Given the description of an element on the screen output the (x, y) to click on. 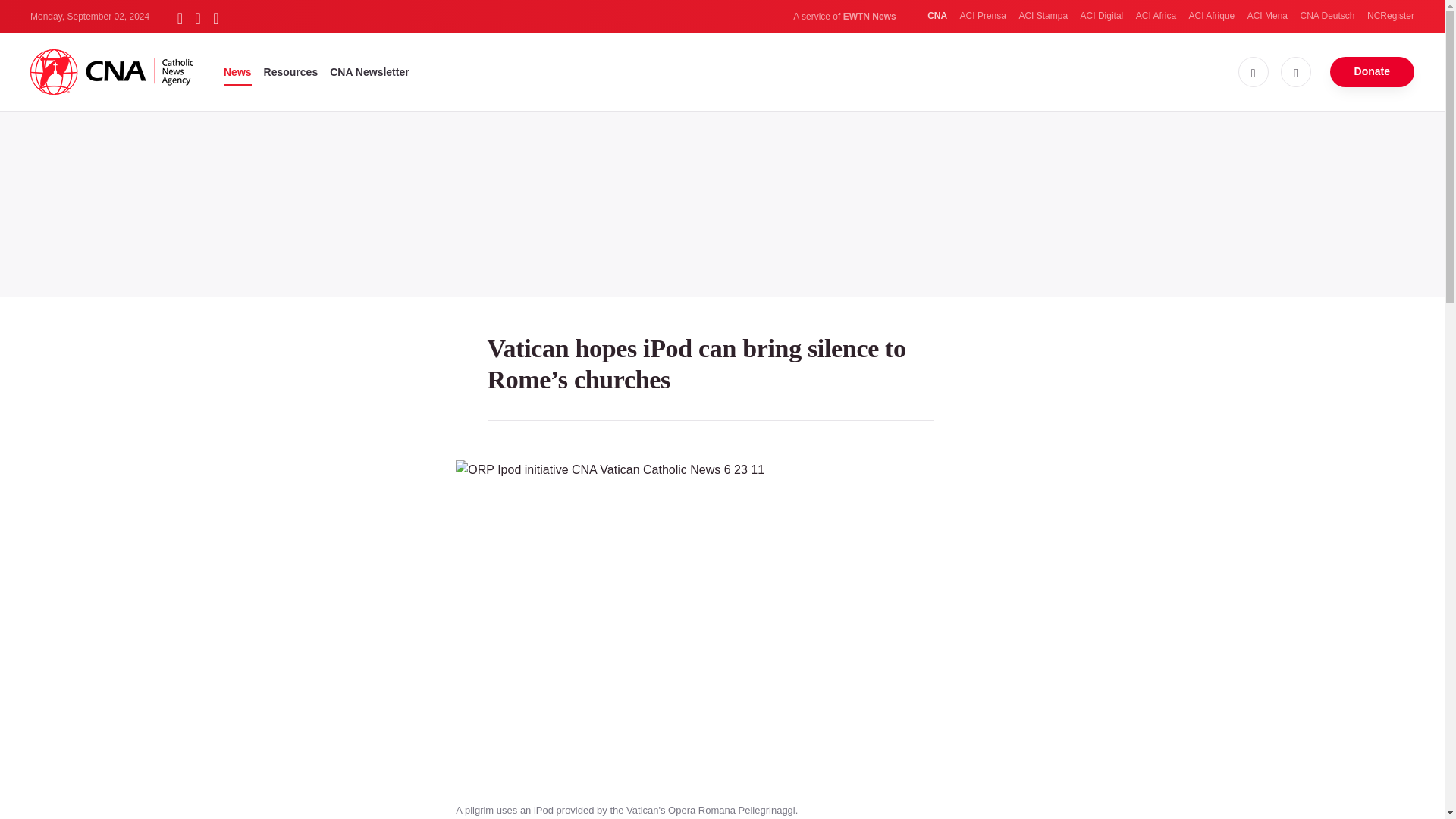
CNA (937, 16)
NCRegister (1390, 16)
ACI Digital (1102, 16)
ACI Afrique (1211, 16)
News (237, 71)
Resources (290, 71)
ACI Mena (1267, 16)
ACI Stampa (1042, 16)
EWTN News (869, 16)
ACI Africa (1155, 16)
